Given the description of an element on the screen output the (x, y) to click on. 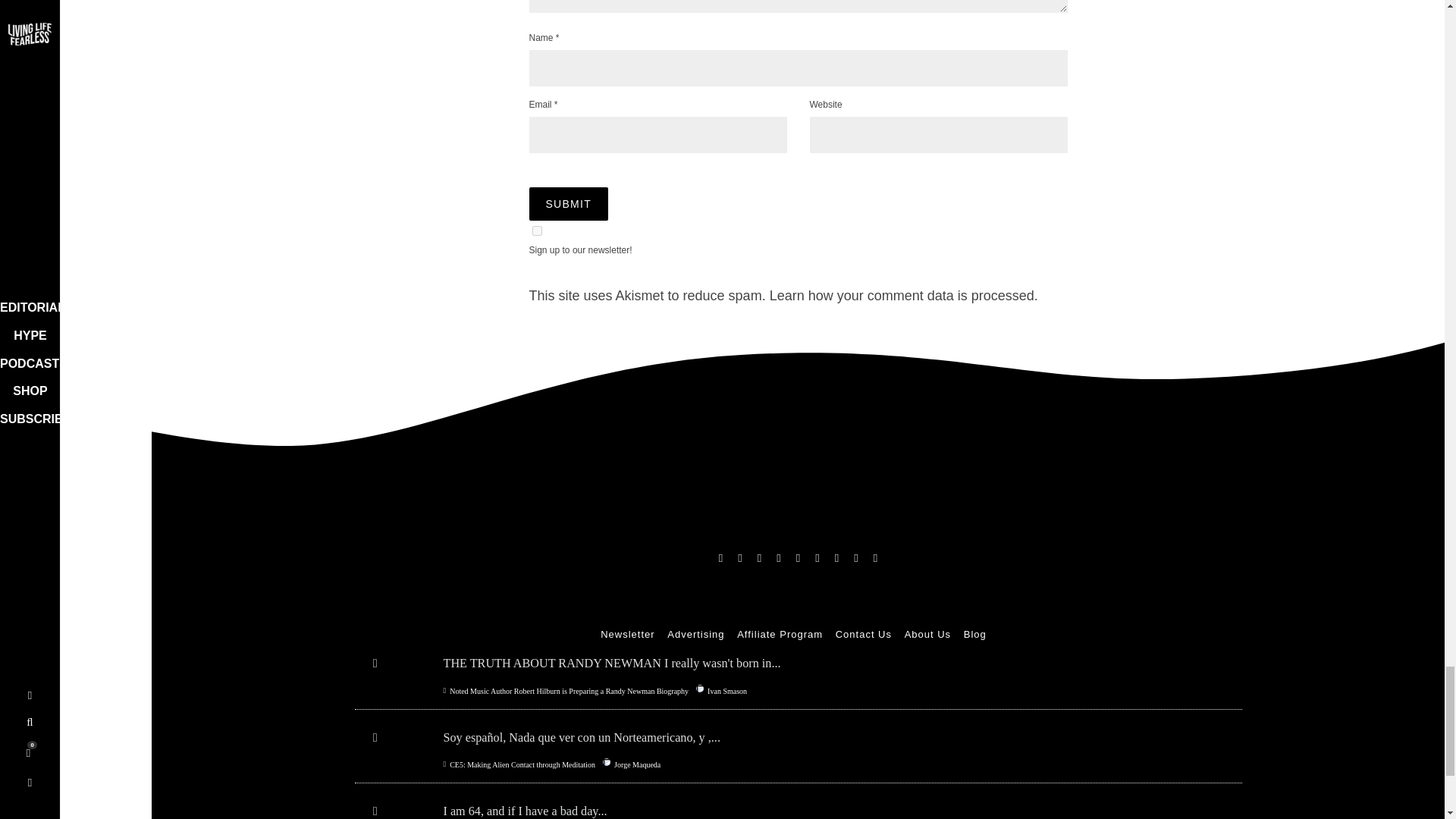
1 (536, 230)
Contact Us (863, 633)
Submit (568, 203)
